Given the description of an element on the screen output the (x, y) to click on. 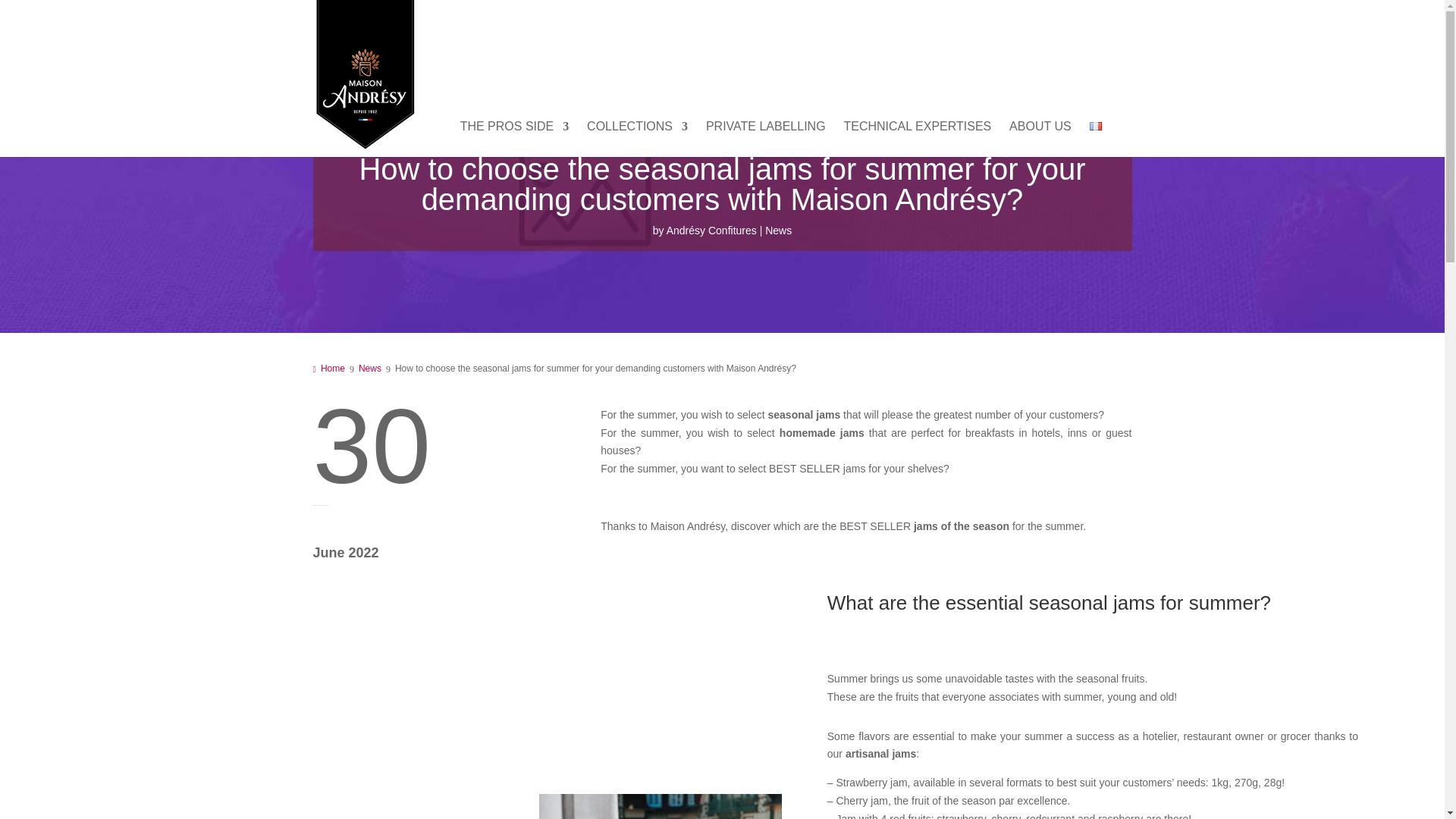
PRIVATE LABELLING (765, 139)
COLLECTIONS (636, 139)
News (371, 368)
News (778, 230)
Home (331, 368)
TECHNICAL EXPERTISES (917, 139)
ABOUT US (1040, 139)
THE PROS SIDE (514, 139)
